Given the description of an element on the screen output the (x, y) to click on. 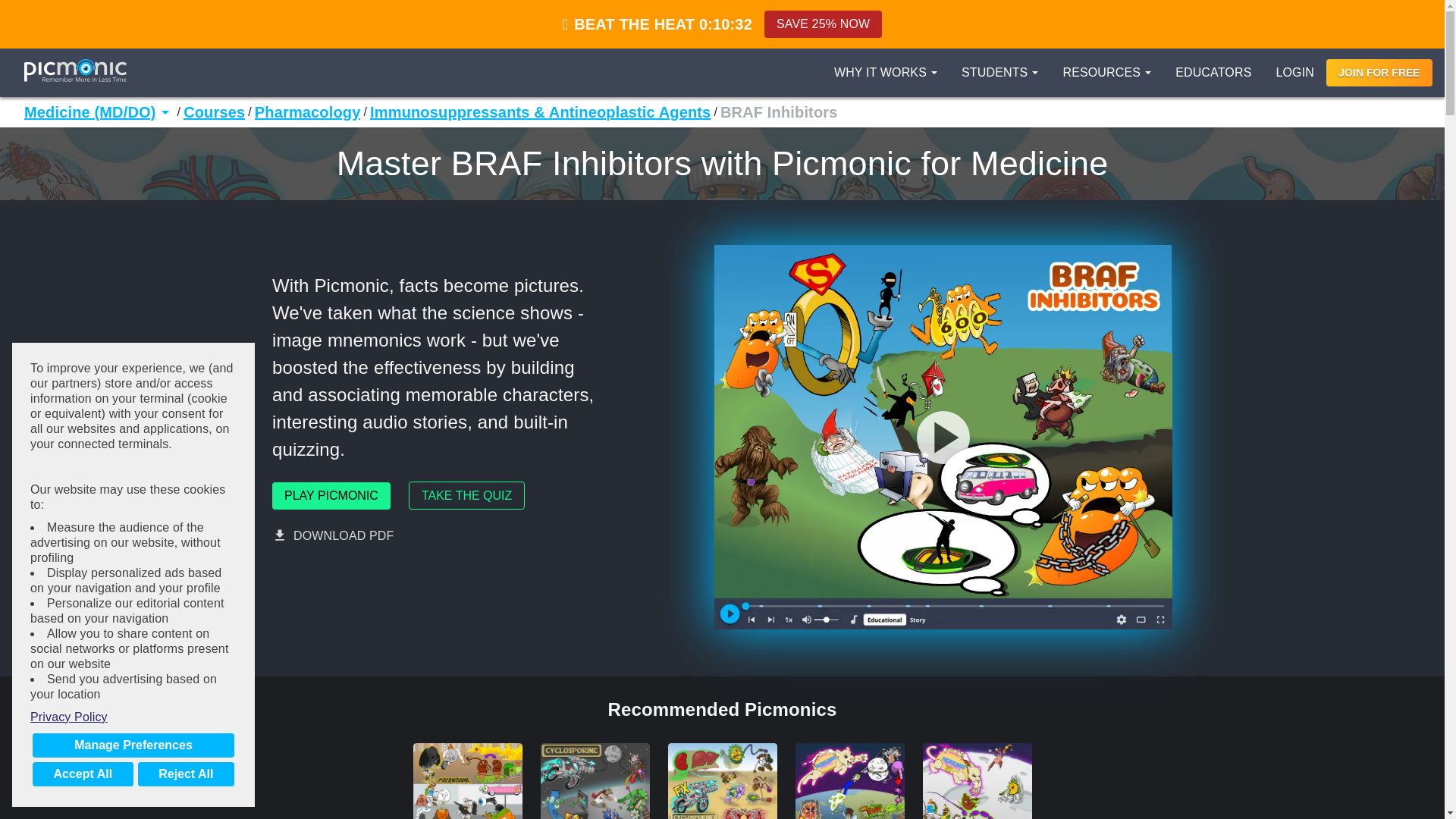
Privacy Policy (132, 717)
Manage Preferences (133, 745)
Accept All (82, 774)
Reject All (185, 774)
